Given the description of an element on the screen output the (x, y) to click on. 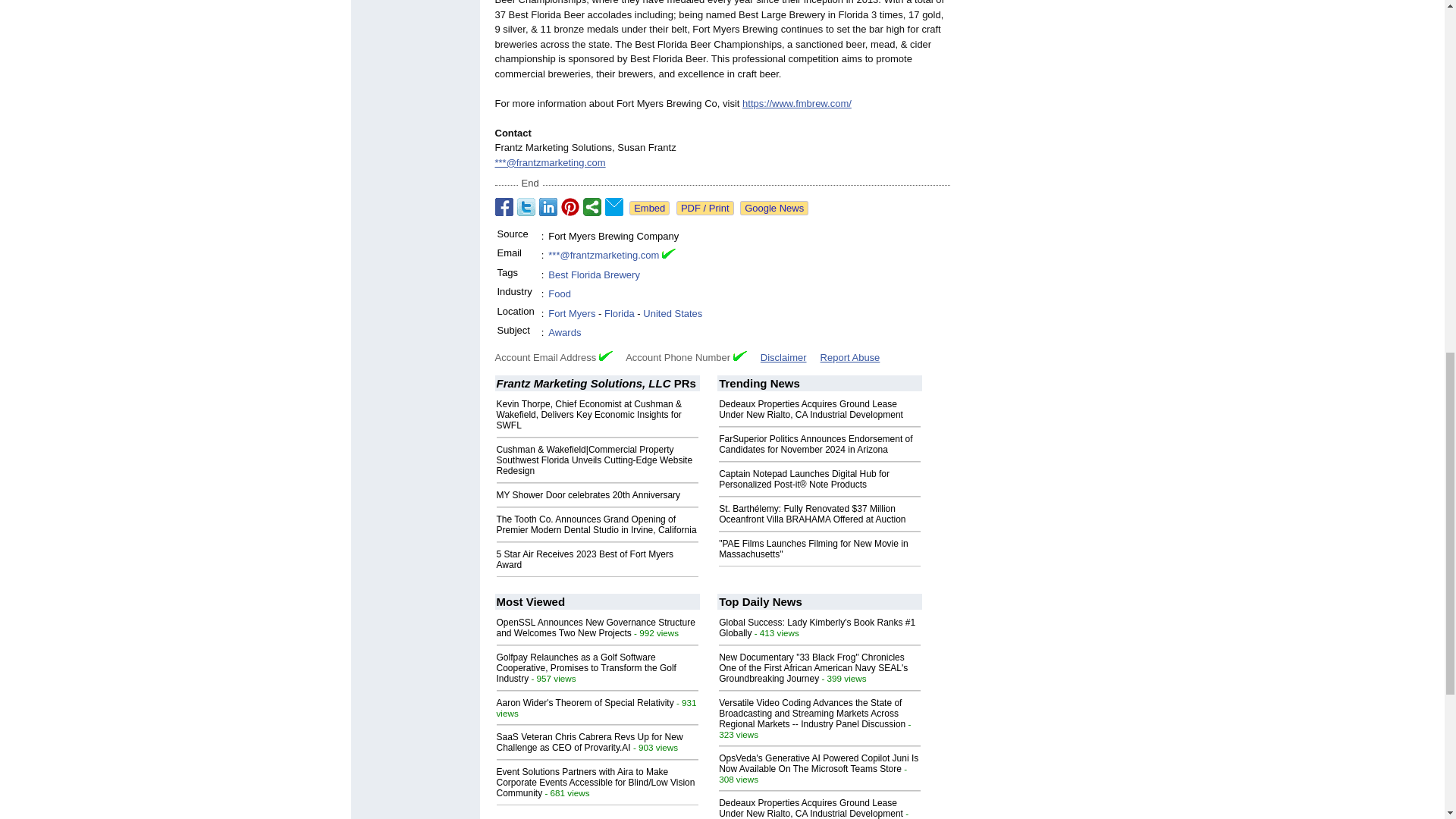
Verified (605, 356)
Share on LinkedIn (547, 207)
See or print the PDF version! (705, 207)
Embed this press release in your website! (648, 207)
Share on Facebook (503, 207)
Verified (739, 356)
Email Verified (668, 255)
Share on Pinterest (569, 207)
Email to a Friend (614, 207)
Embed (648, 207)
Share on Twitter (525, 207)
Share on StumbleUpon, Digg, etc (590, 207)
